Given the description of an element on the screen output the (x, y) to click on. 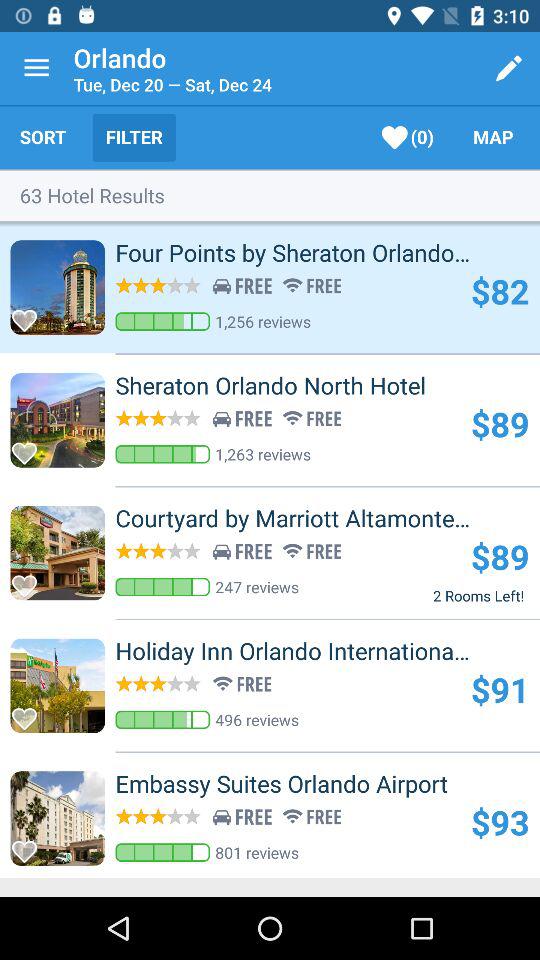
choose $93 icon (500, 821)
